Given the description of an element on the screen output the (x, y) to click on. 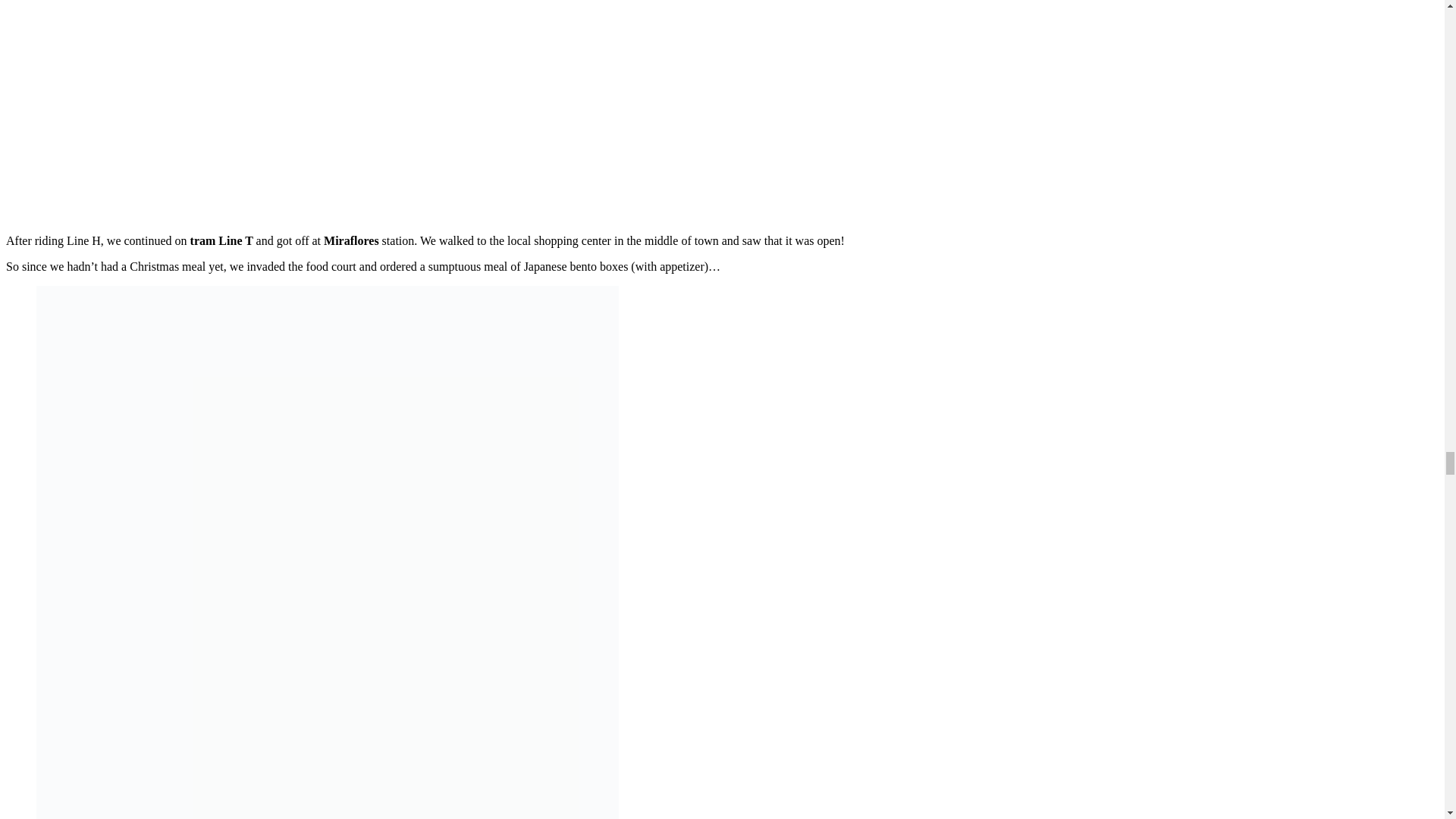
Ascending The Line H Gondola - Medellin, Colombia (278, 109)
